Given the description of an element on the screen output the (x, y) to click on. 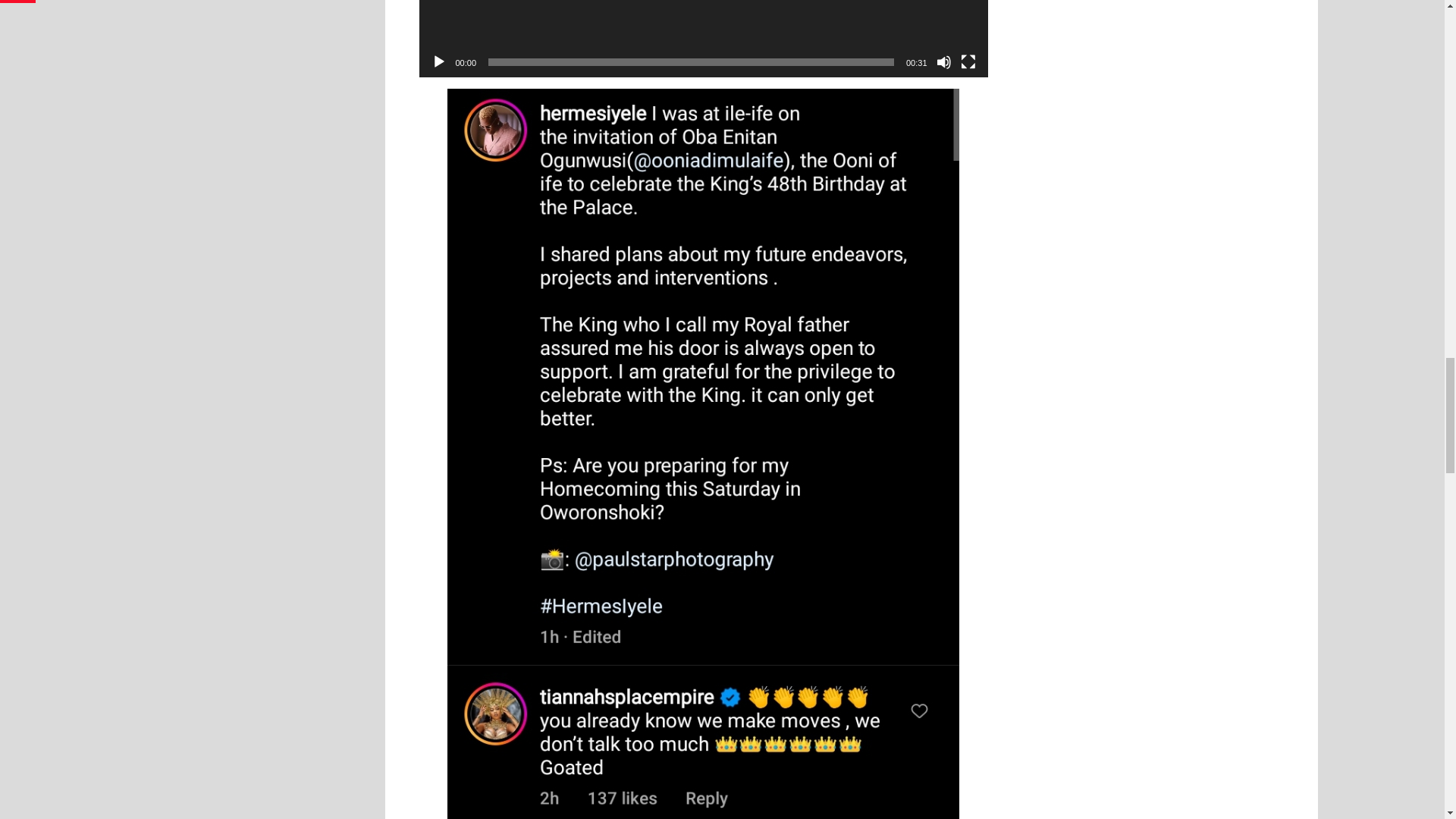
Mute (943, 61)
Play (437, 61)
Fullscreen (967, 61)
